Given the description of an element on the screen output the (x, y) to click on. 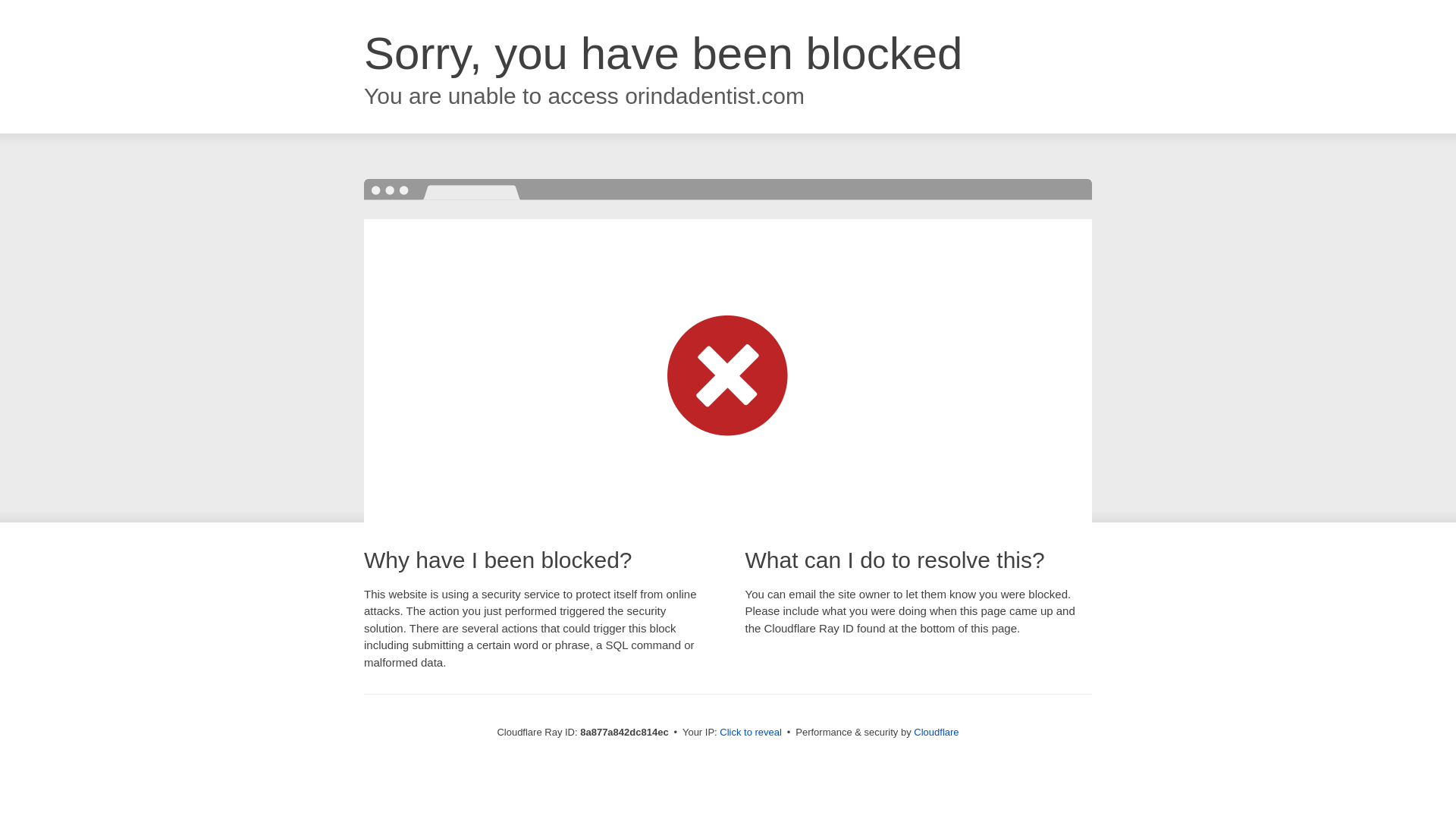
Click to reveal (750, 732)
Cloudflare (936, 731)
